Given the description of an element on the screen output the (x, y) to click on. 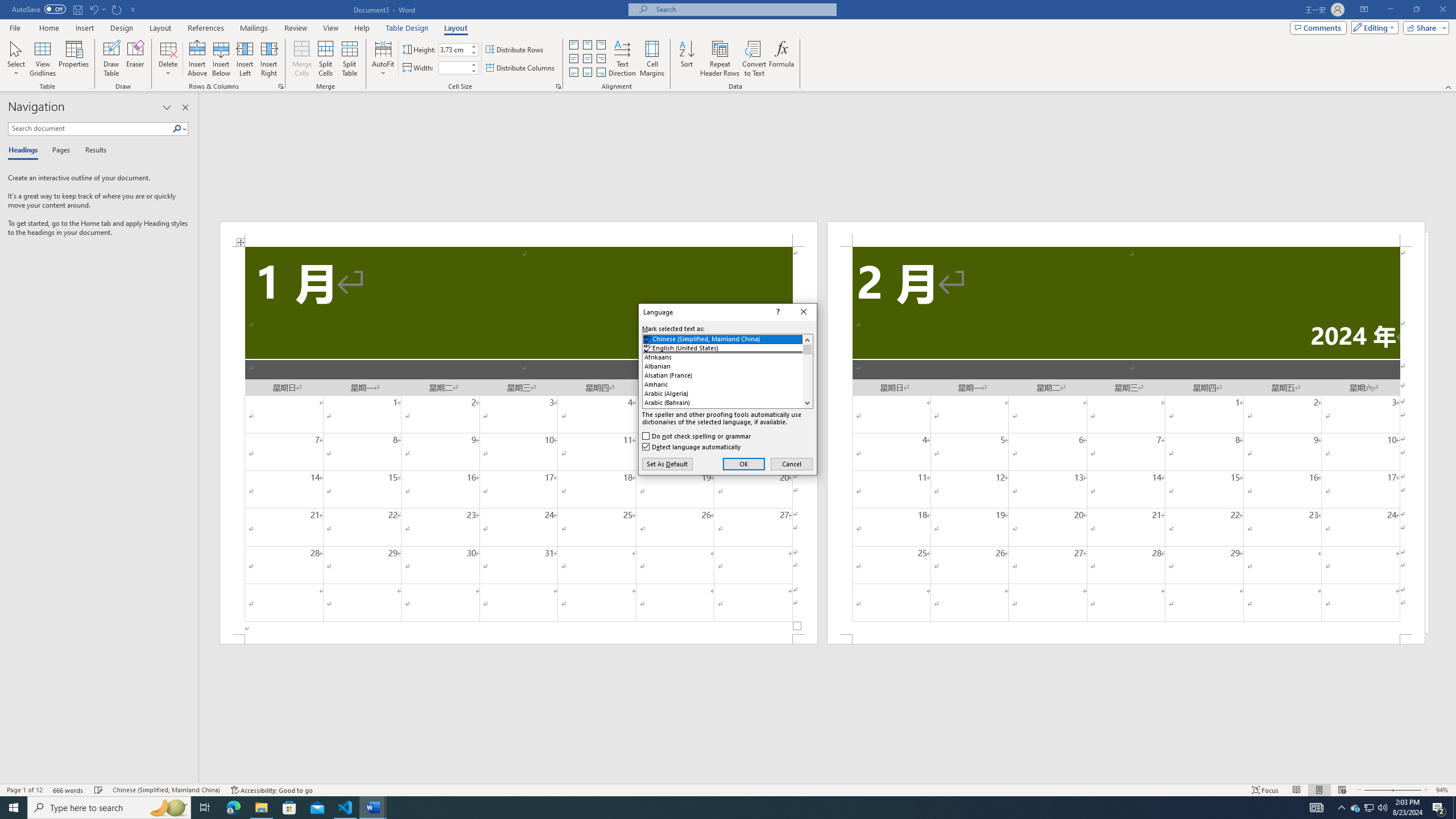
Accessibility Checker Accessibility: Good to go (271, 790)
Insert Right (269, 58)
Draw Table (111, 58)
Notification Chevron (1341, 807)
Page down (807, 376)
Q2790: 100% (1382, 807)
Align Bottom Center (587, 72)
Cancel (791, 463)
Page 2 content (1126, 439)
Repeat Doc Close (117, 9)
Align Bottom Right (601, 72)
